Given the description of an element on the screen output the (x, y) to click on. 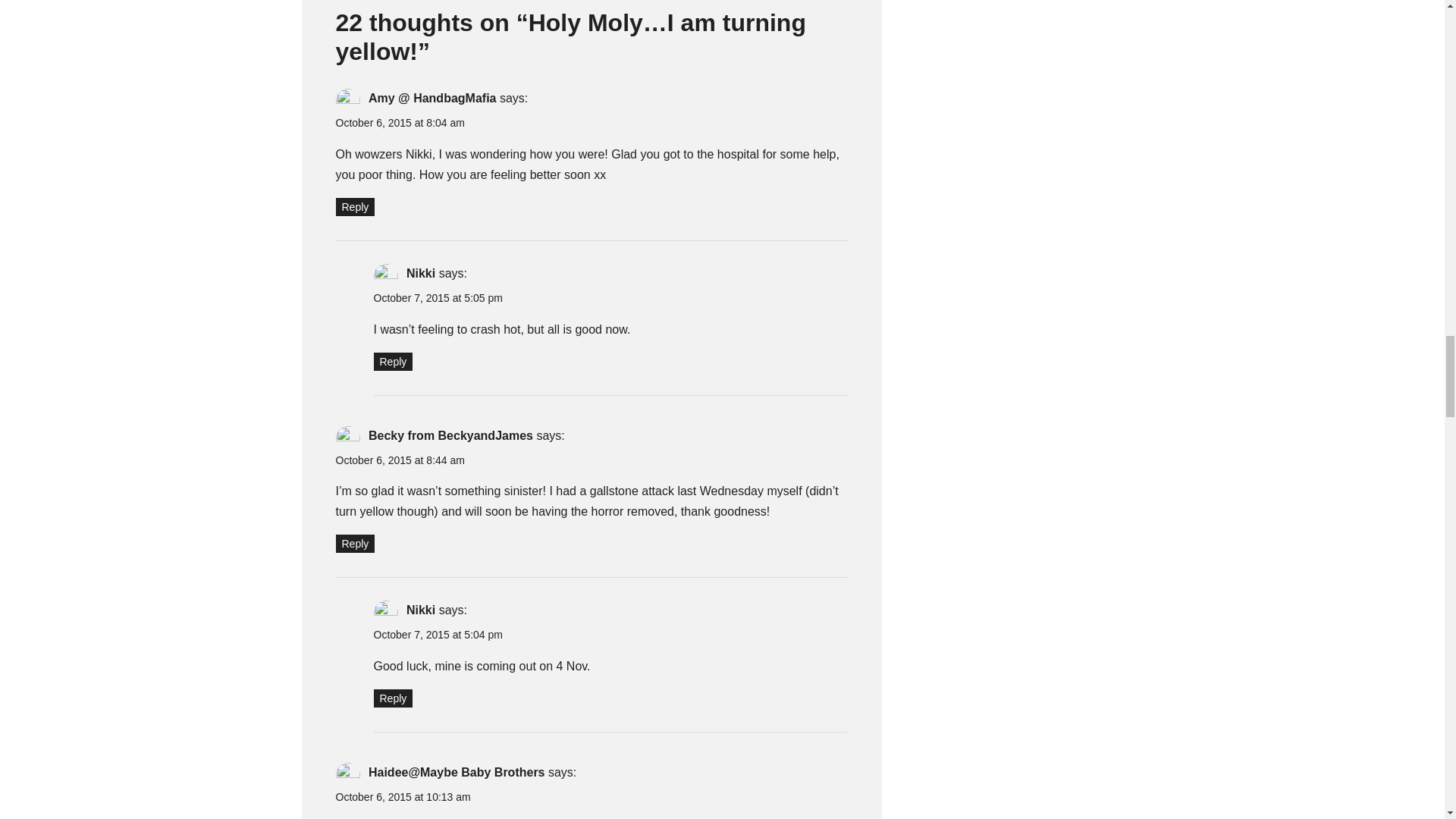
Reply (392, 698)
Reply (354, 543)
October 6, 2015 at 8:04 am (399, 122)
Reply (354, 207)
October 7, 2015 at 5:04 pm (437, 634)
October 6, 2015 at 8:44 am (399, 460)
October 7, 2015 at 5:05 pm (437, 297)
Reply (392, 361)
Becky from BeckyandJames (450, 435)
October 6, 2015 at 10:13 am (402, 797)
